Given the description of an element on the screen output the (x, y) to click on. 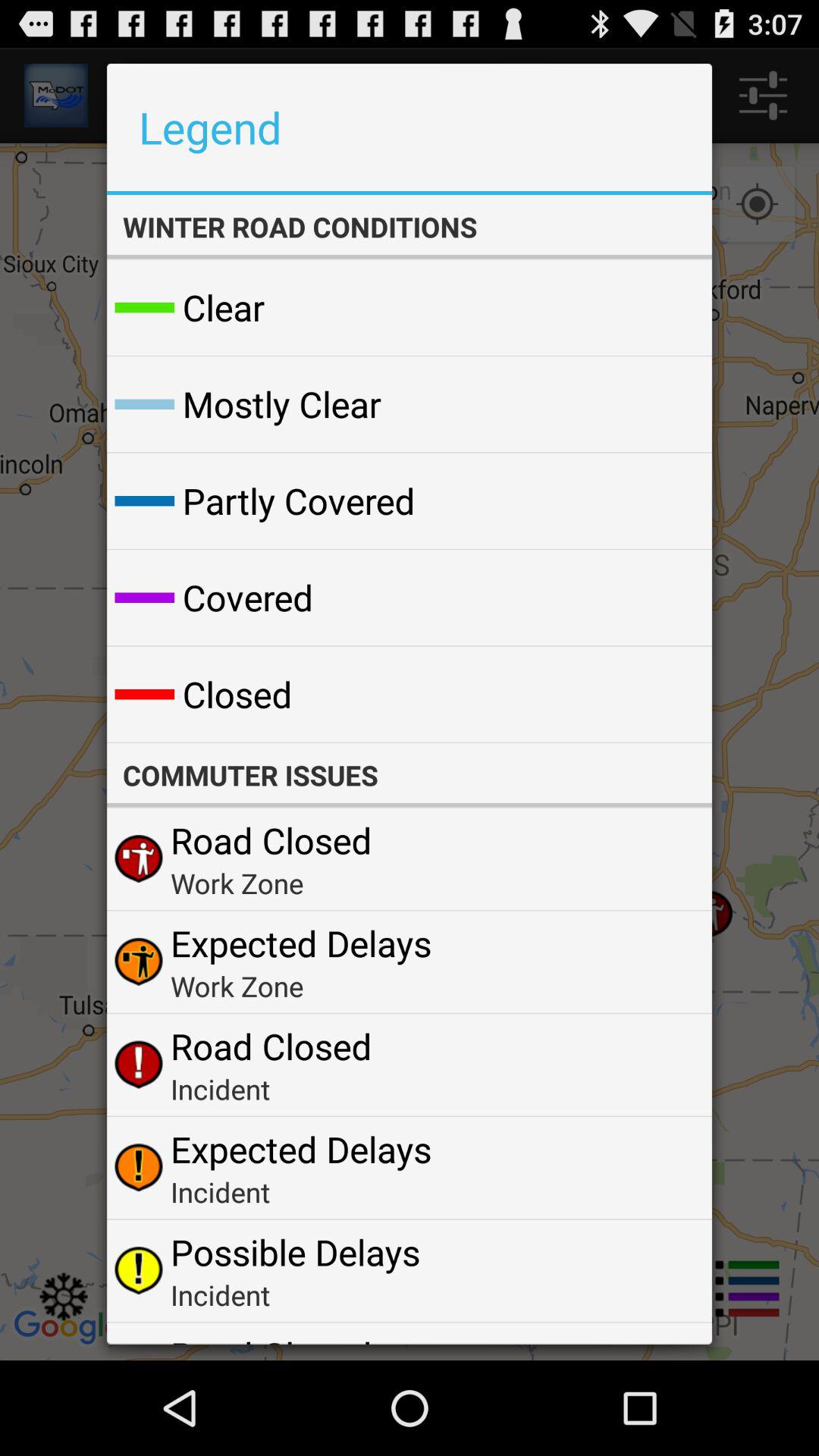
turn off icon to the right of possible delays icon (664, 1270)
